Given the description of an element on the screen output the (x, y) to click on. 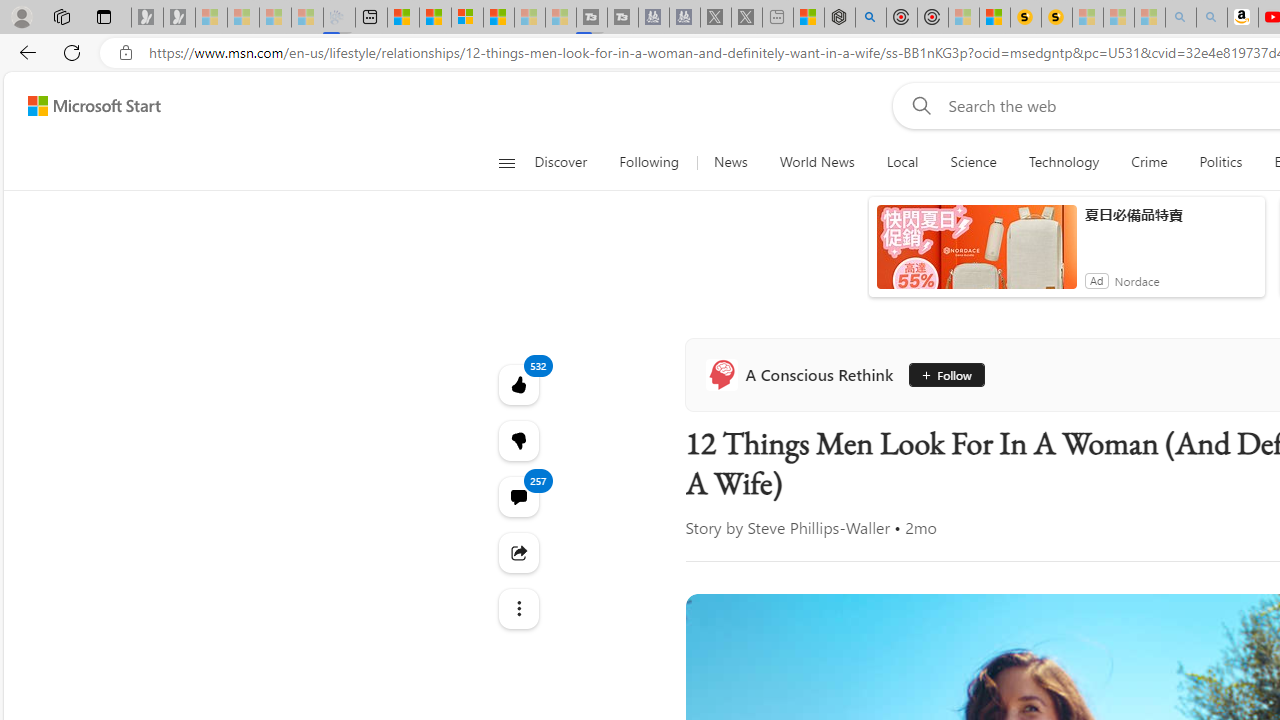
News (729, 162)
Crime (1149, 162)
A Conscious Rethink (803, 374)
Technology (1063, 162)
Skip to footer (82, 105)
Crime (1149, 162)
Local (902, 162)
